Given the description of an element on the screen output the (x, y) to click on. 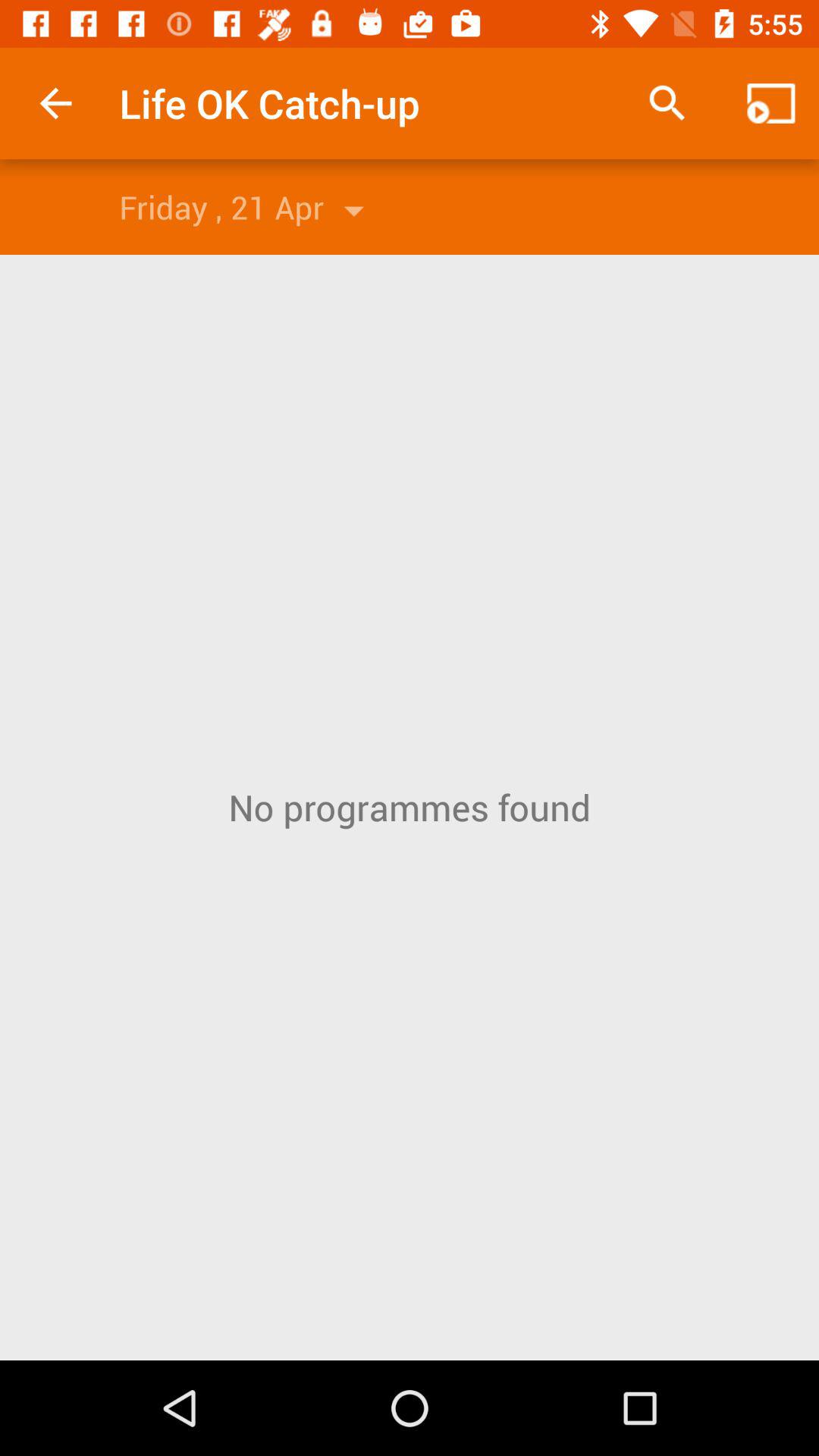
choose the item next to life ok catch app (667, 103)
